Given the description of an element on the screen output the (x, y) to click on. 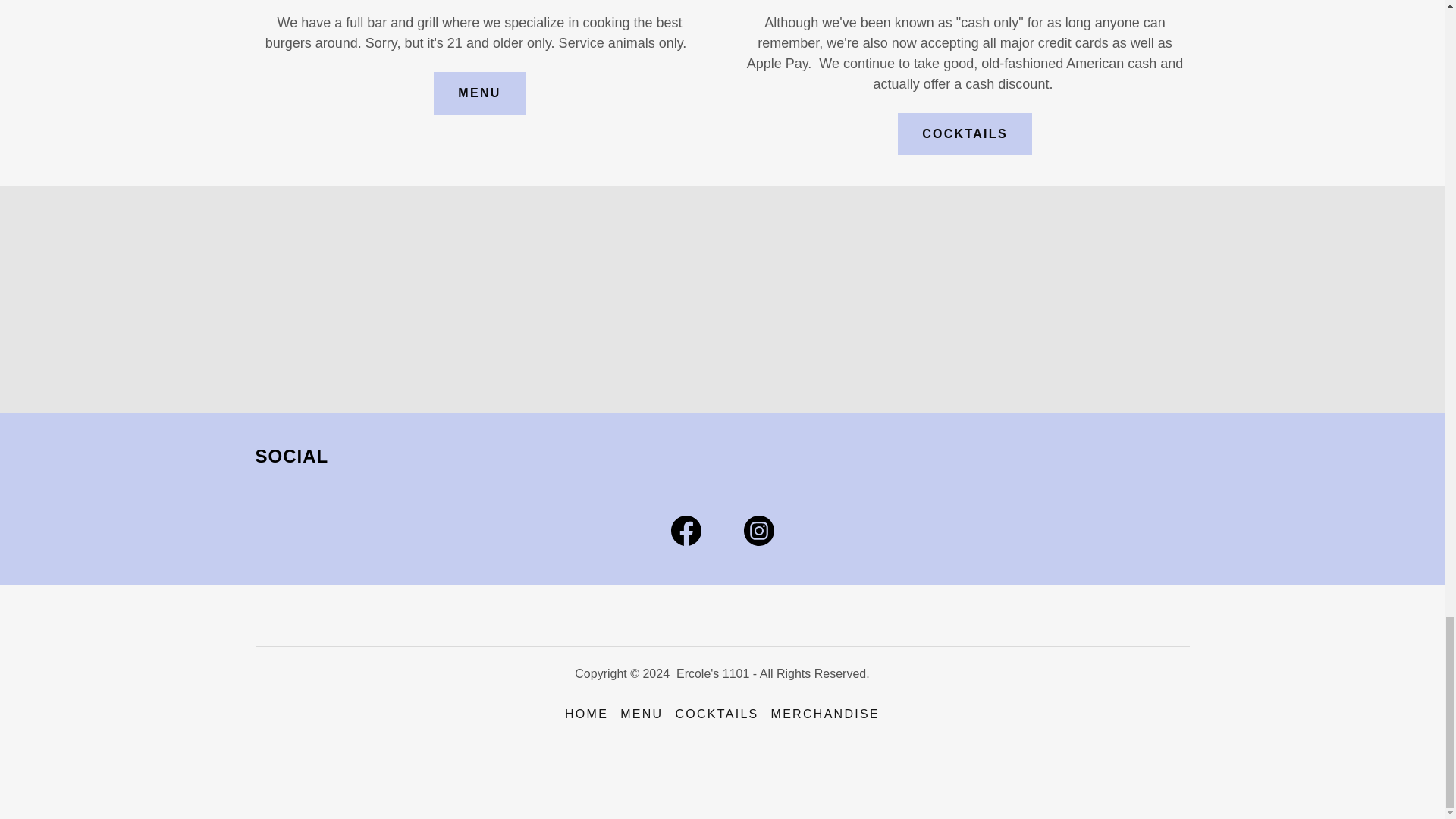
HOME (586, 714)
COCKTAILS (965, 134)
MENU (641, 714)
MERCHANDISE (825, 714)
COCKTAILS (716, 714)
MENU (478, 93)
